Given the description of an element on the screen output the (x, y) to click on. 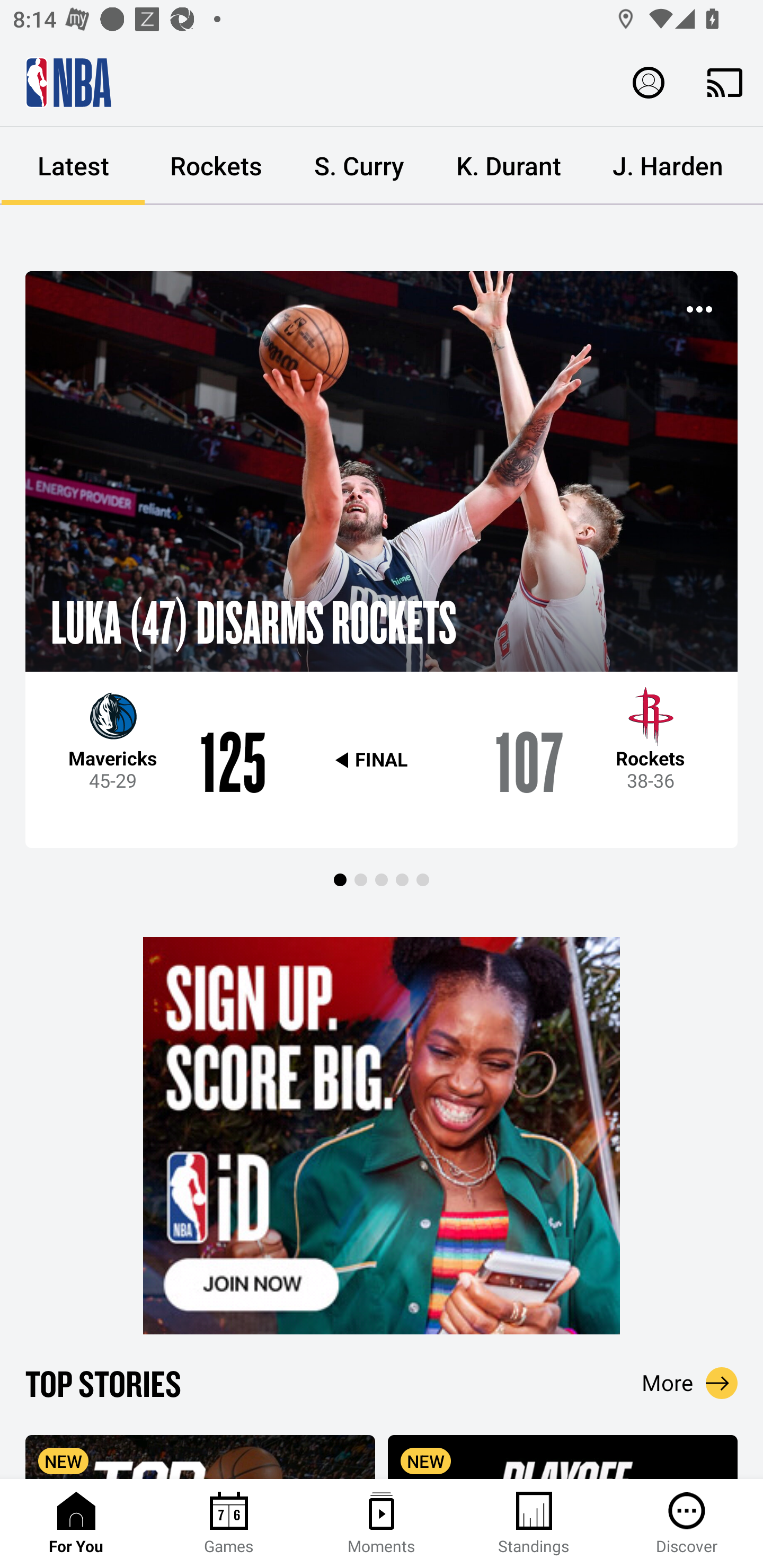
Cast. Disconnected (724, 82)
Profile (648, 81)
Rockets (215, 166)
S. Curry (359, 166)
K. Durant (508, 166)
J. Harden (667, 166)
More (689, 1382)
Games (228, 1523)
Moments (381, 1523)
Standings (533, 1523)
Discover (686, 1523)
